Given the description of an element on the screen output the (x, y) to click on. 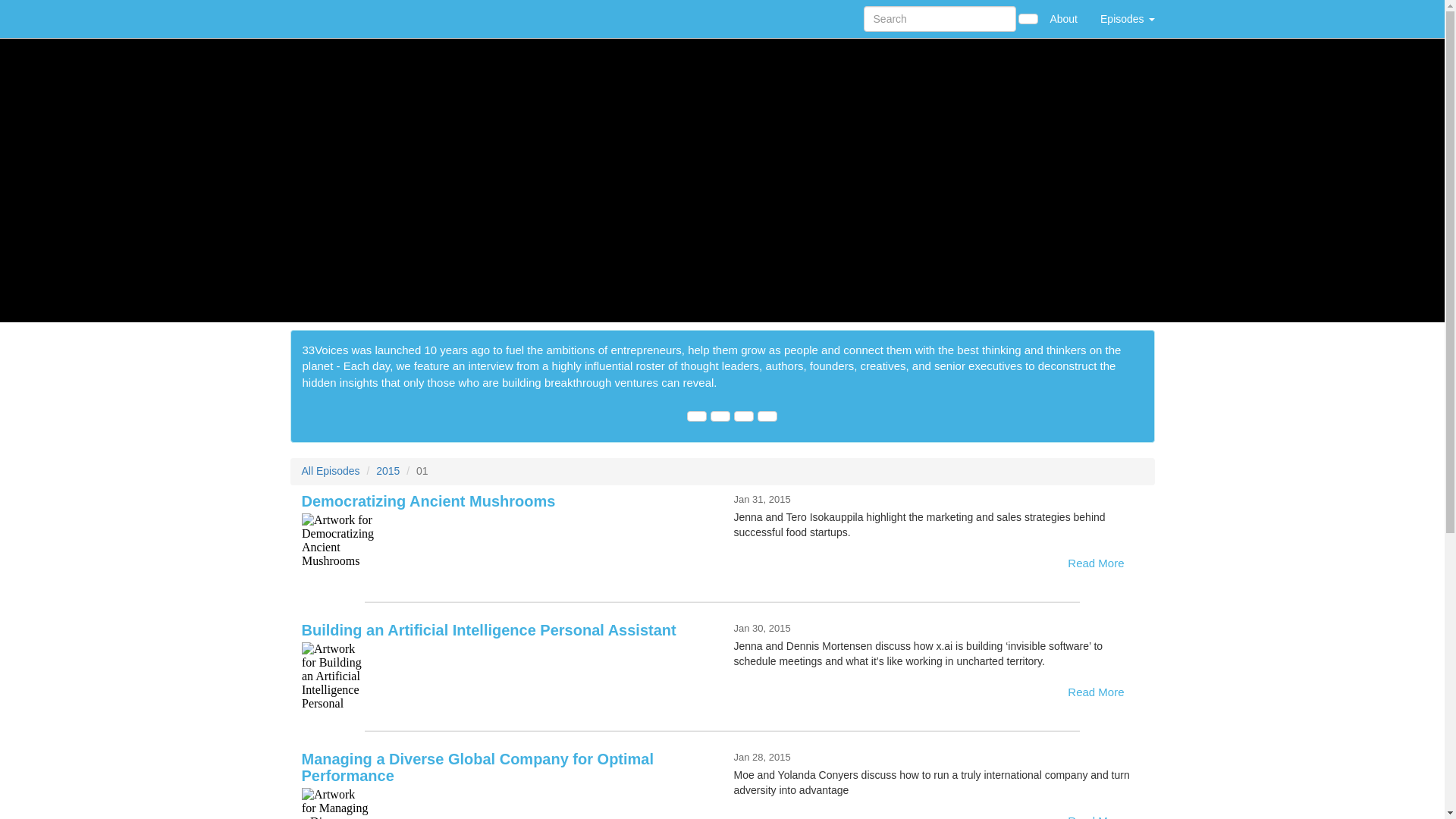
Home Page (320, 18)
About (1063, 18)
Episodes (1127, 18)
Managing a Diverse Global Company for Optimal Performance (506, 803)
Building an Artificial Intelligence Personal Assistant  (506, 676)
Democratizing Ancient Mushrooms (506, 547)
